Given the description of an element on the screen output the (x, y) to click on. 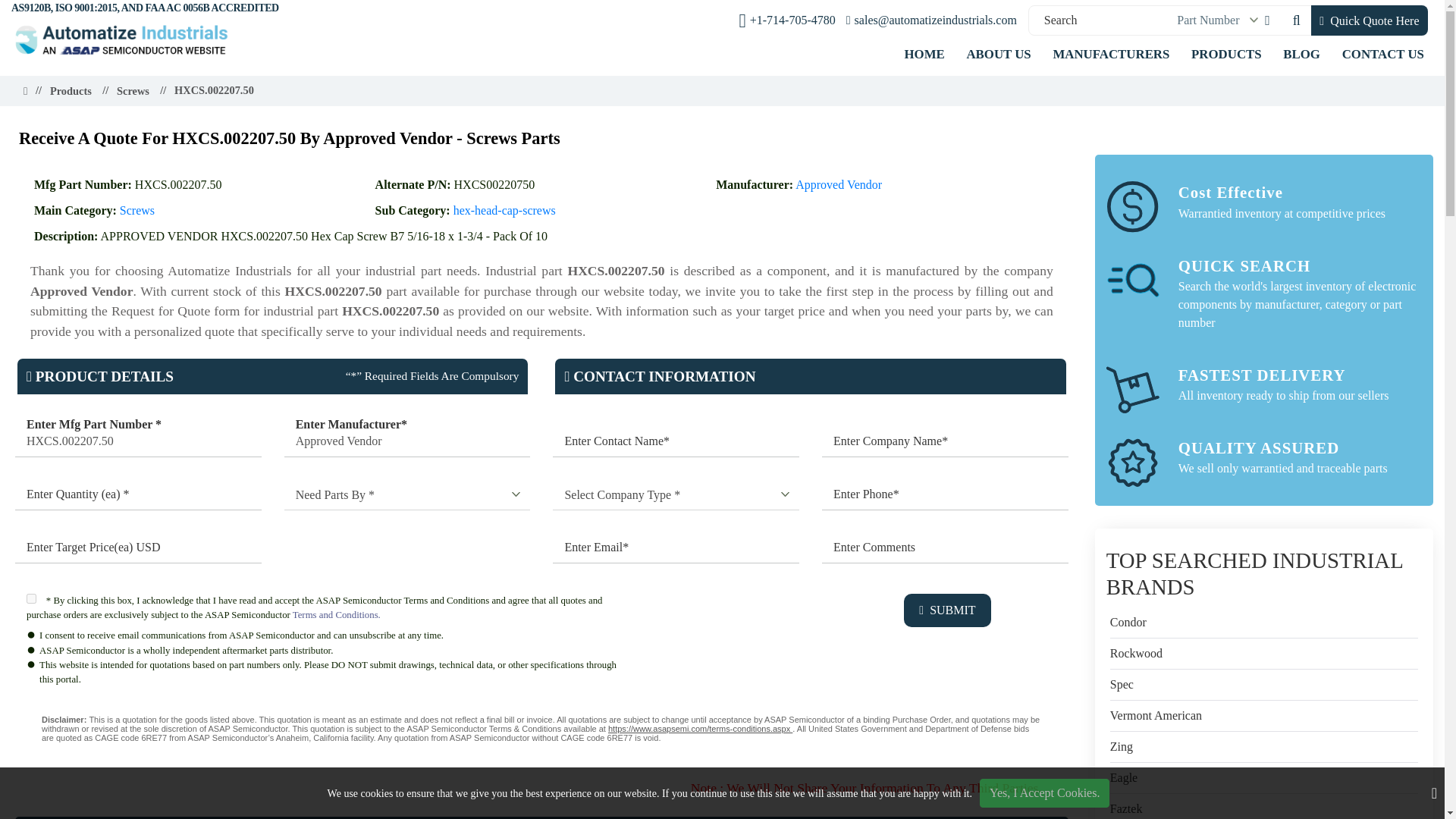
Eagle (1123, 778)
HXCS00220750 (494, 184)
Spec (1121, 684)
Rockwood (1135, 653)
MANUFACTURERS (1110, 53)
on (31, 598)
Screws (132, 91)
  SUBMIT (947, 610)
  Quick Quote Here (1369, 20)
hex-head-cap-screws (504, 210)
Faztek (1125, 809)
Vermont American (1155, 715)
HOME (924, 53)
Screws (136, 210)
HXCS.002207.50 (178, 184)
